Given the description of an element on the screen output the (x, y) to click on. 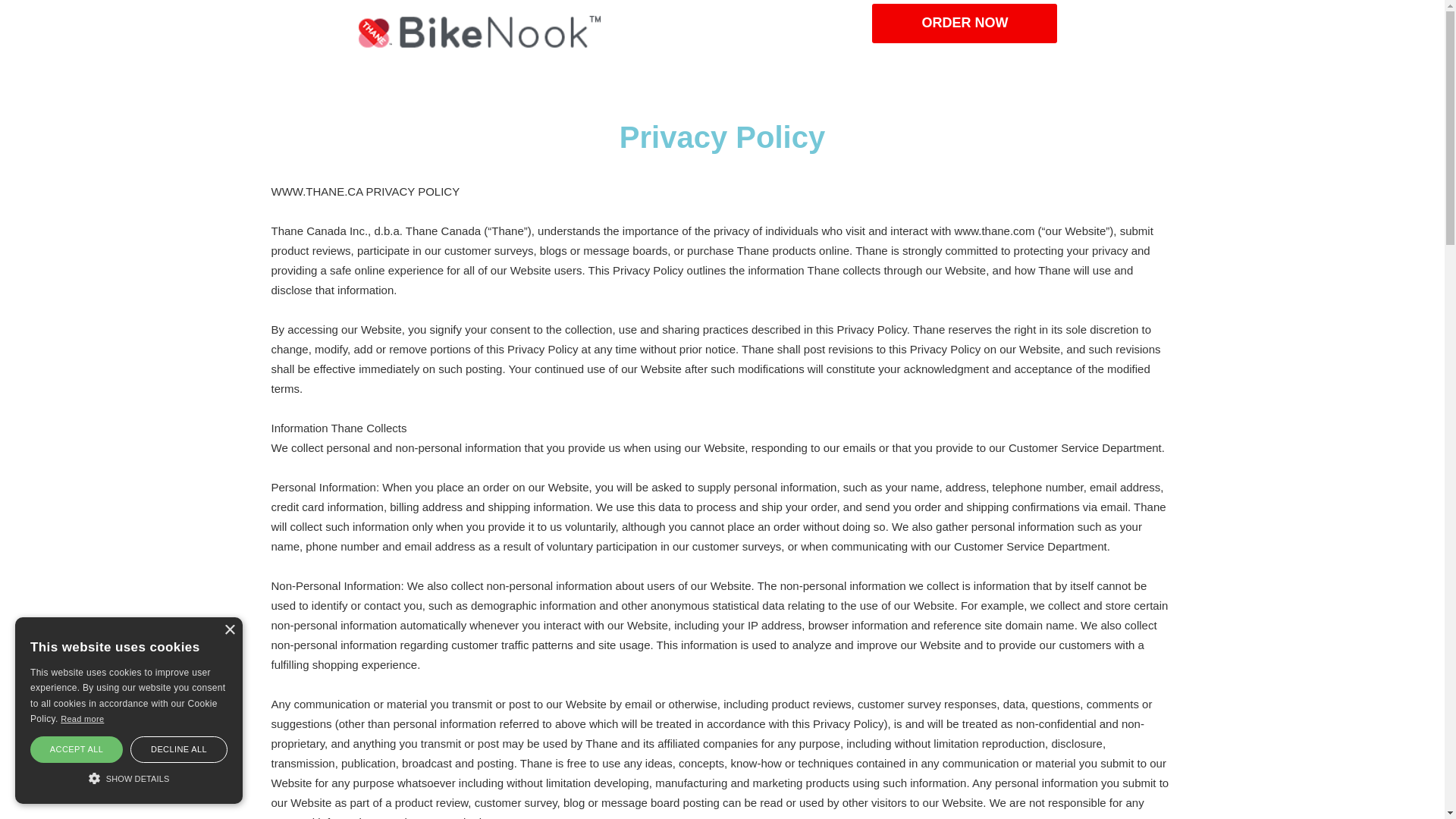
ORDER NOW Element type: text (964, 23)
Read more Element type: text (81, 718)
